Given the description of an element on the screen output the (x, y) to click on. 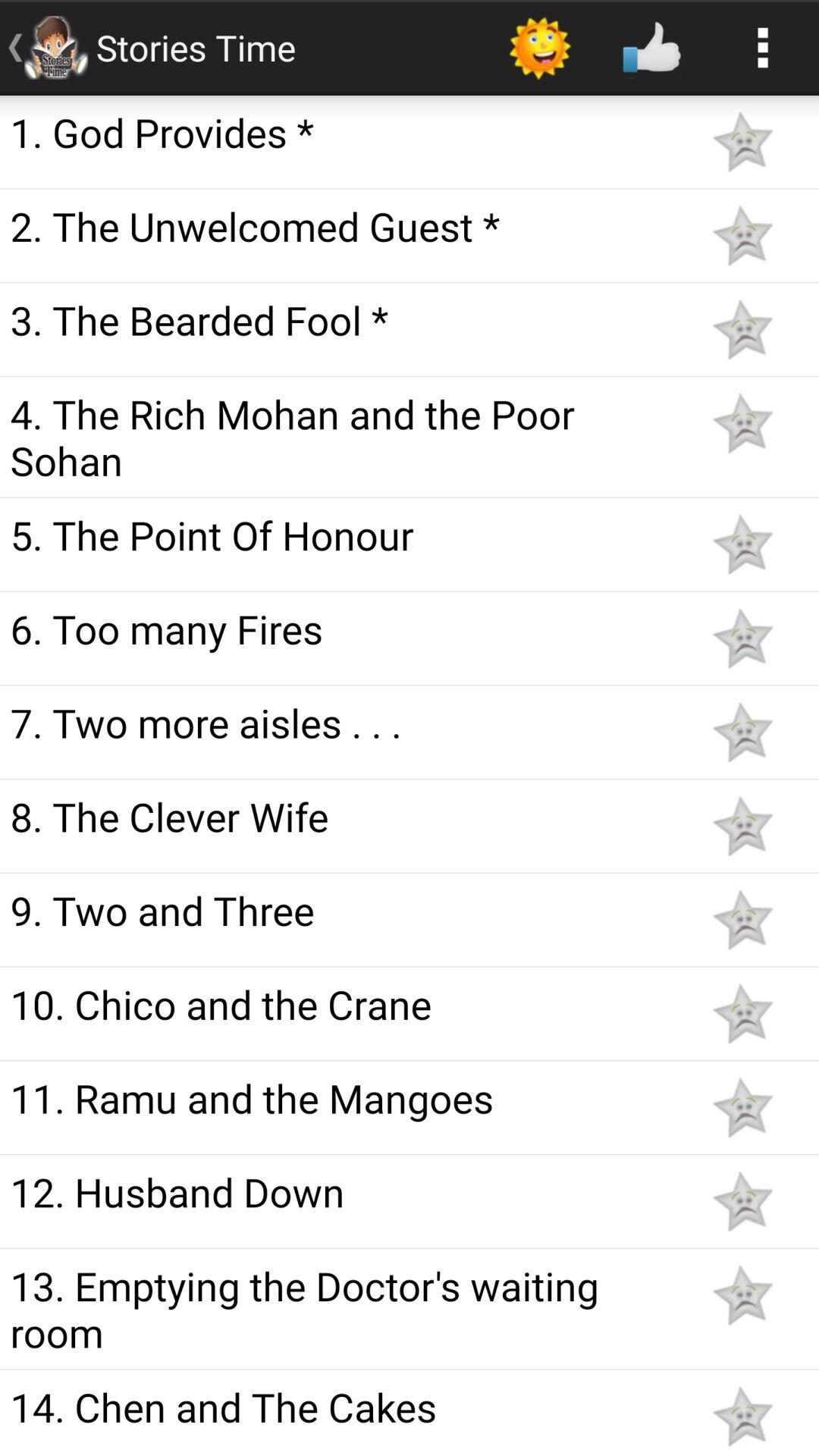
add book mark (742, 825)
